Given the description of an element on the screen output the (x, y) to click on. 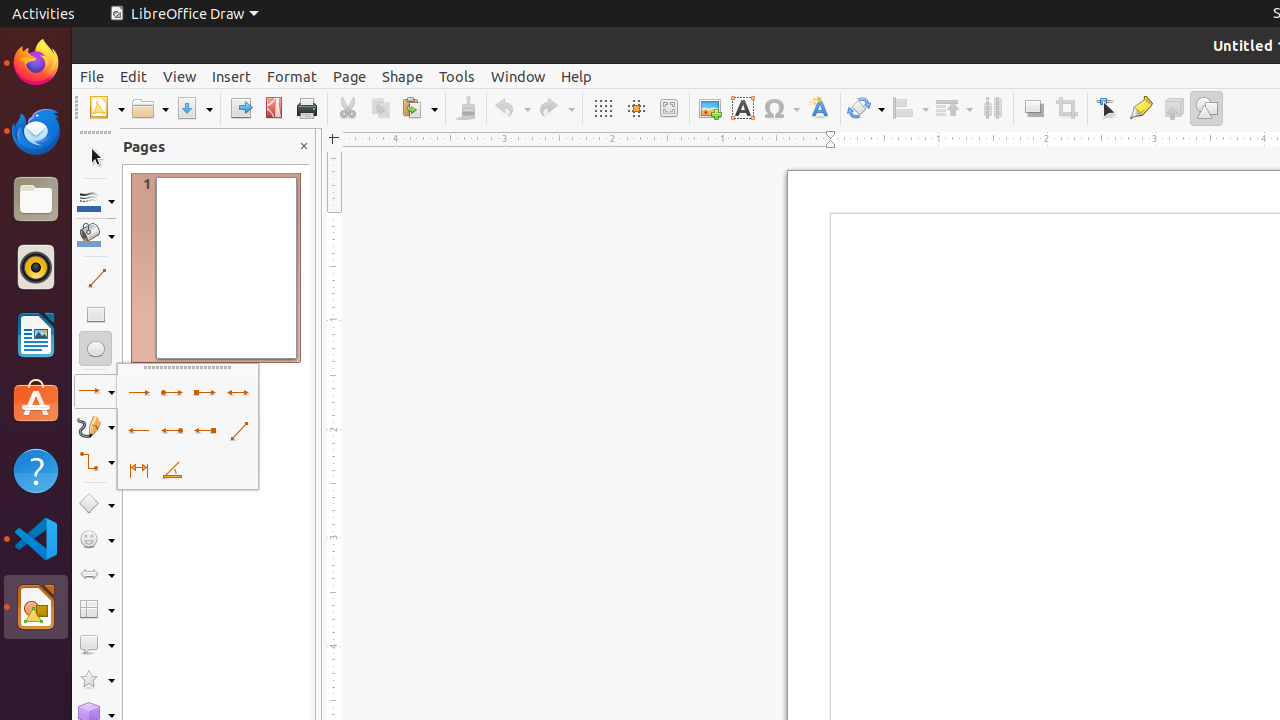
Open Element type: push-button (150, 108)
Arrange Element type: push-button (954, 108)
Text Box Element type: push-button (742, 108)
Format Element type: menu (292, 76)
